Given the description of an element on the screen output the (x, y) to click on. 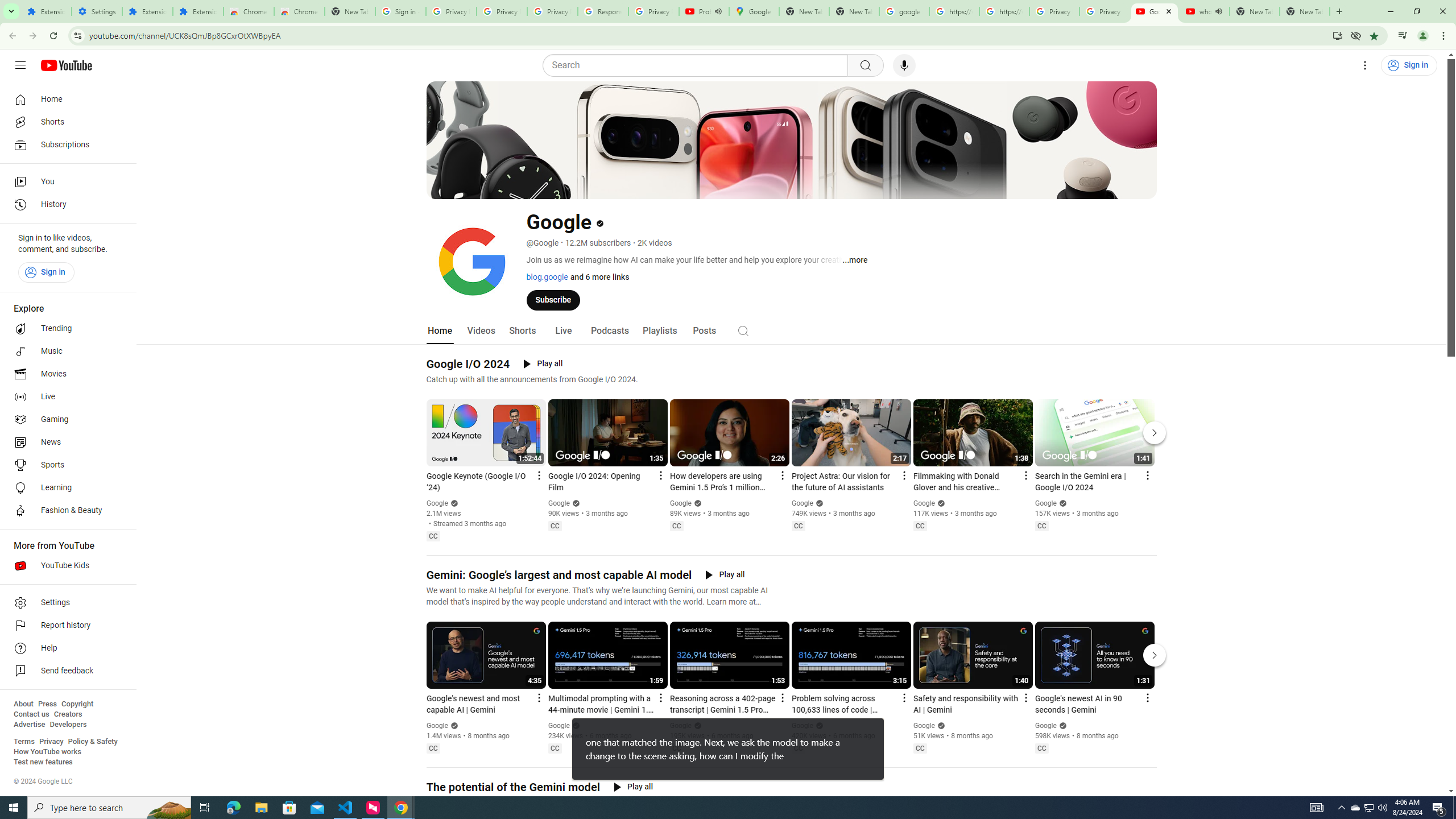
You (64, 181)
Creators (67, 714)
YouTube Home (66, 65)
YouTube Kids (64, 565)
Subscriptions (64, 144)
Sign in (45, 272)
History (64, 204)
Back (10, 35)
